Given the description of an element on the screen output the (x, y) to click on. 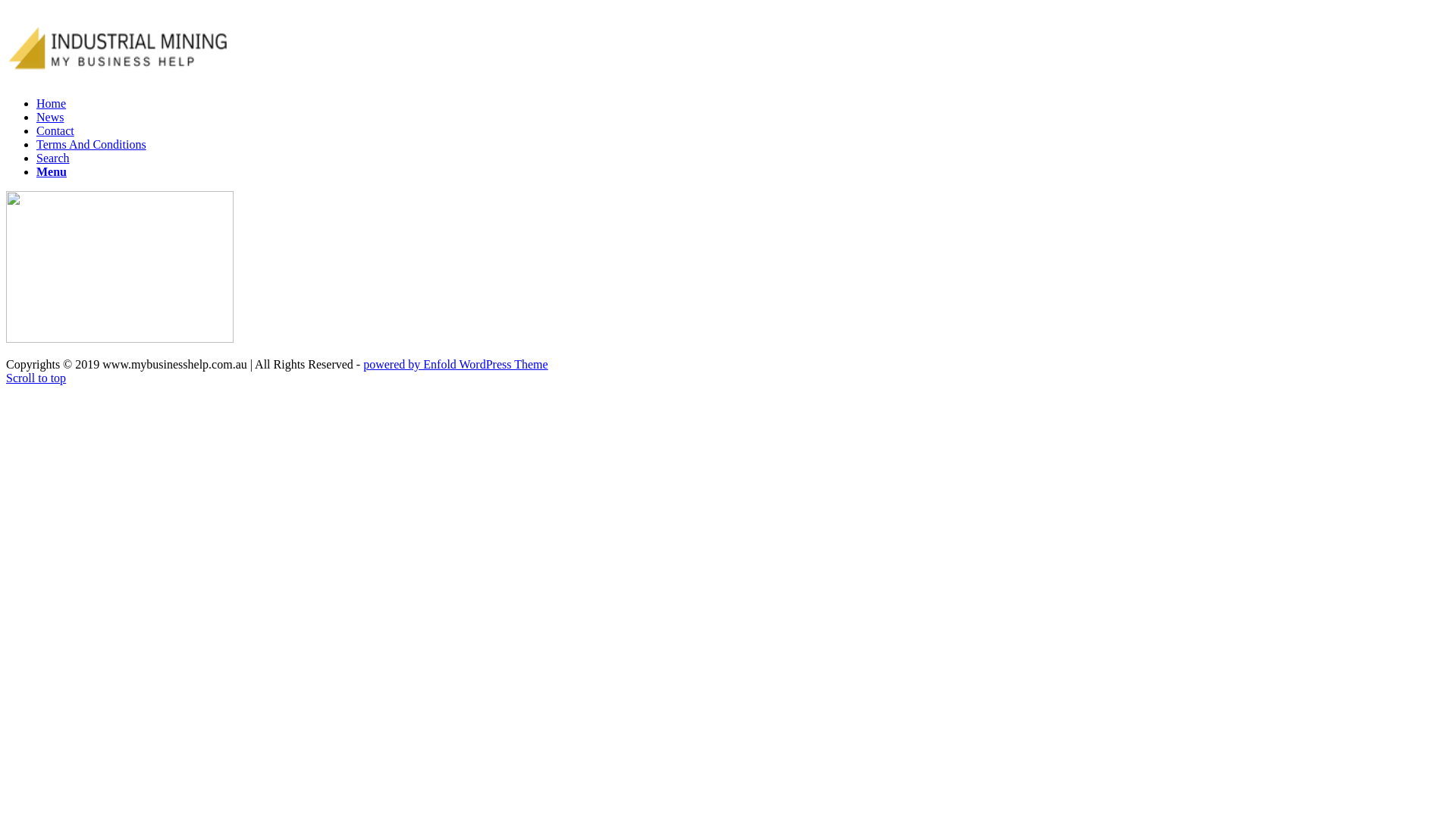
powered by Enfold WordPress Theme Element type: text (455, 363)
Search Element type: text (52, 157)
Scroll to top Element type: text (35, 377)
Menu Element type: text (51, 171)
News Element type: text (49, 116)
Terms And Conditions Element type: text (91, 144)
Home Element type: text (50, 103)
Contact Element type: text (55, 130)
